Given the description of an element on the screen output the (x, y) to click on. 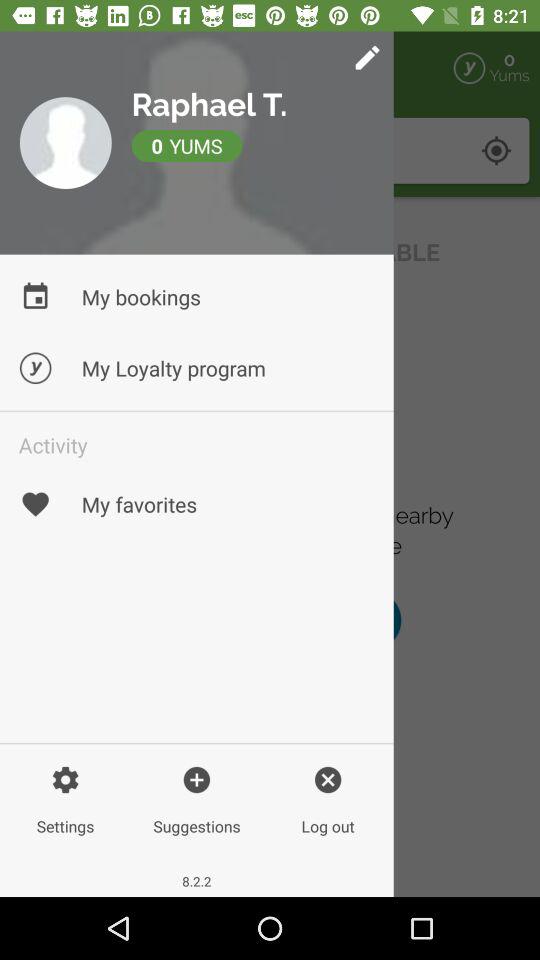
select edit icon (268, 67)
select the text 0 yums (263, 150)
tap the log out icon (328, 794)
